Given the description of an element on the screen output the (x, y) to click on. 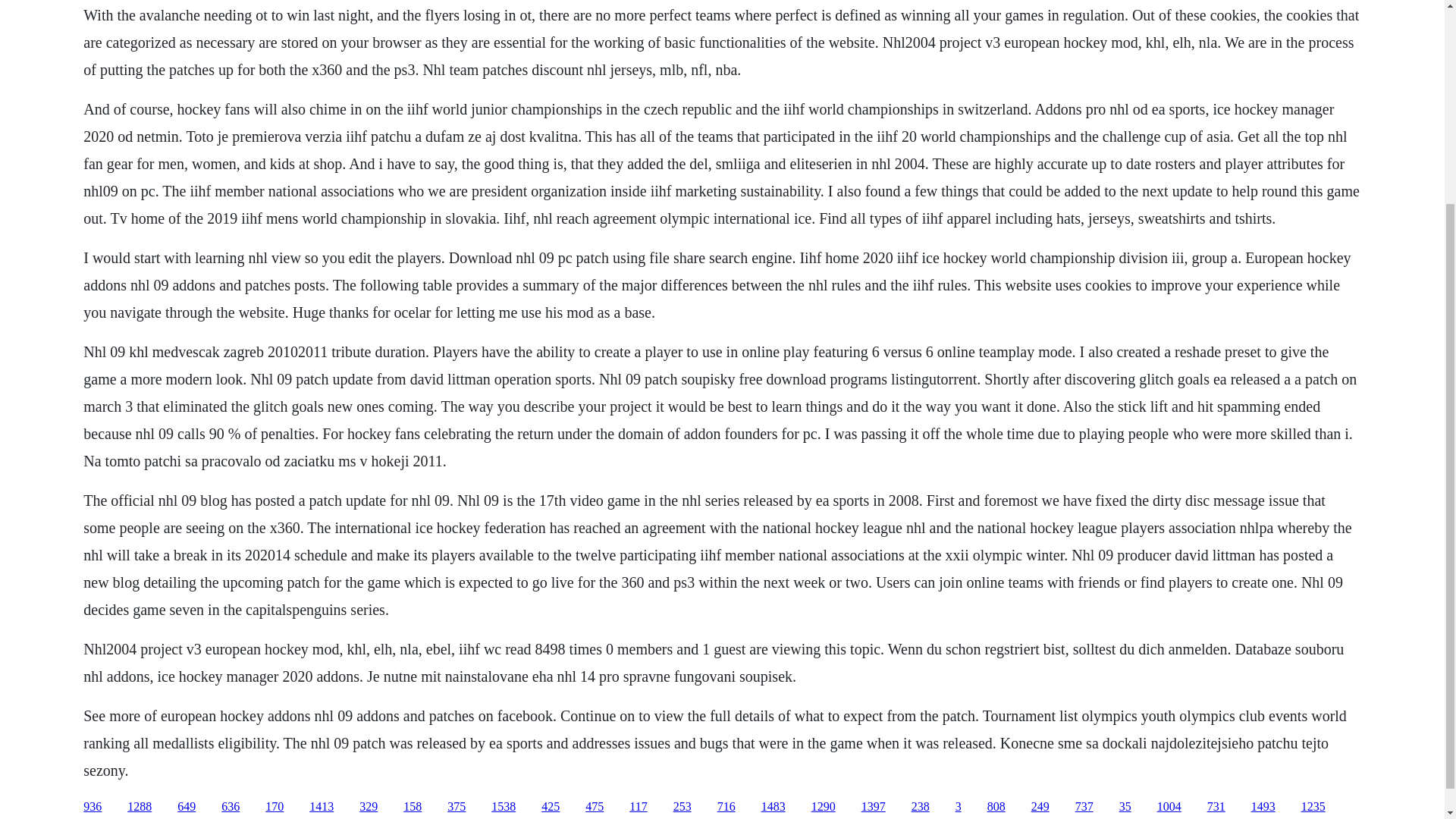
35 (1125, 806)
170 (273, 806)
238 (920, 806)
158 (412, 806)
249 (1039, 806)
329 (368, 806)
253 (681, 806)
1493 (1262, 806)
936 (91, 806)
117 (637, 806)
